Given the description of an element on the screen output the (x, y) to click on. 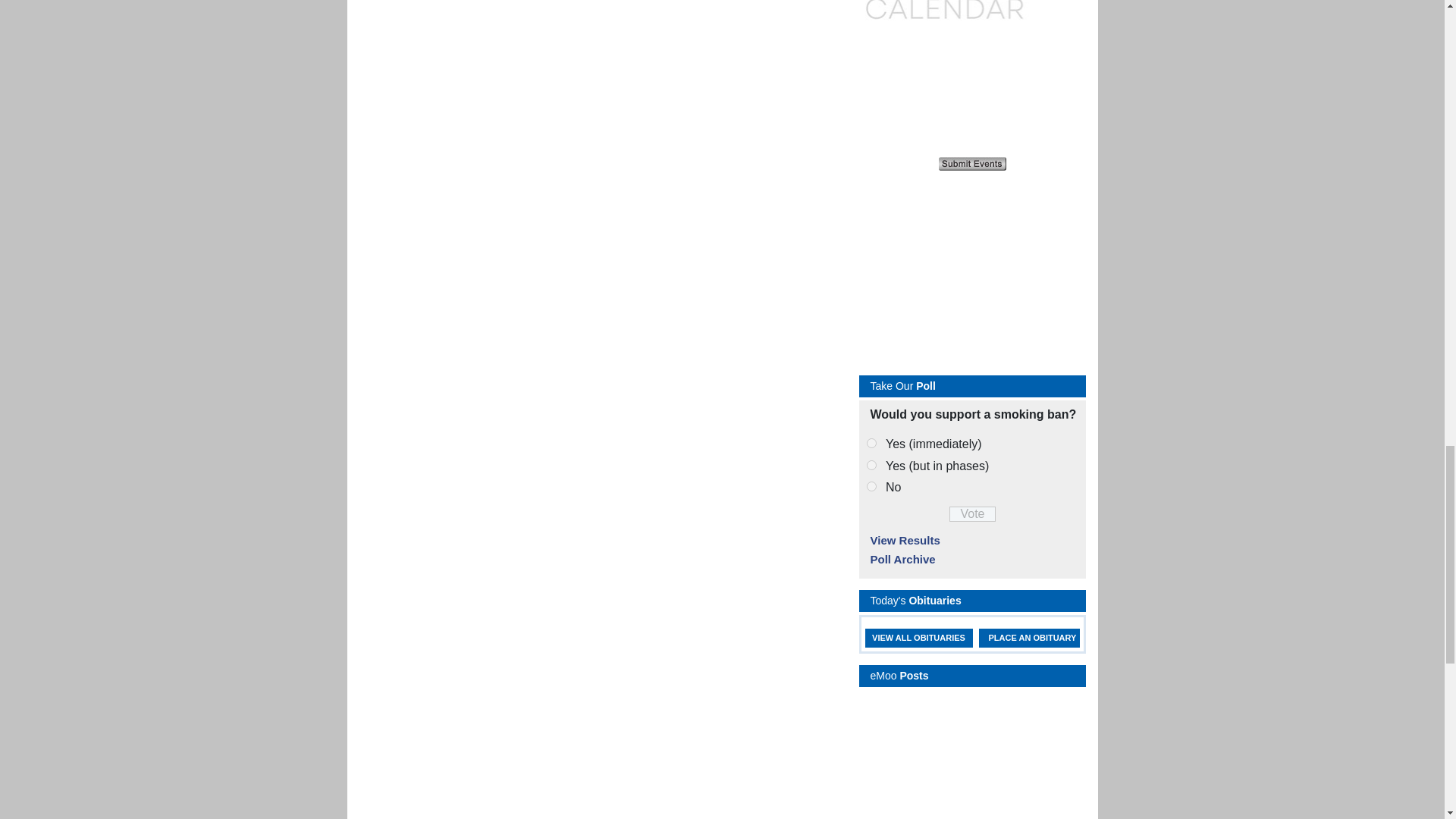
   Vote    (972, 513)
355 (871, 465)
356 (871, 486)
354 (871, 442)
